Given the description of an element on the screen output the (x, y) to click on. 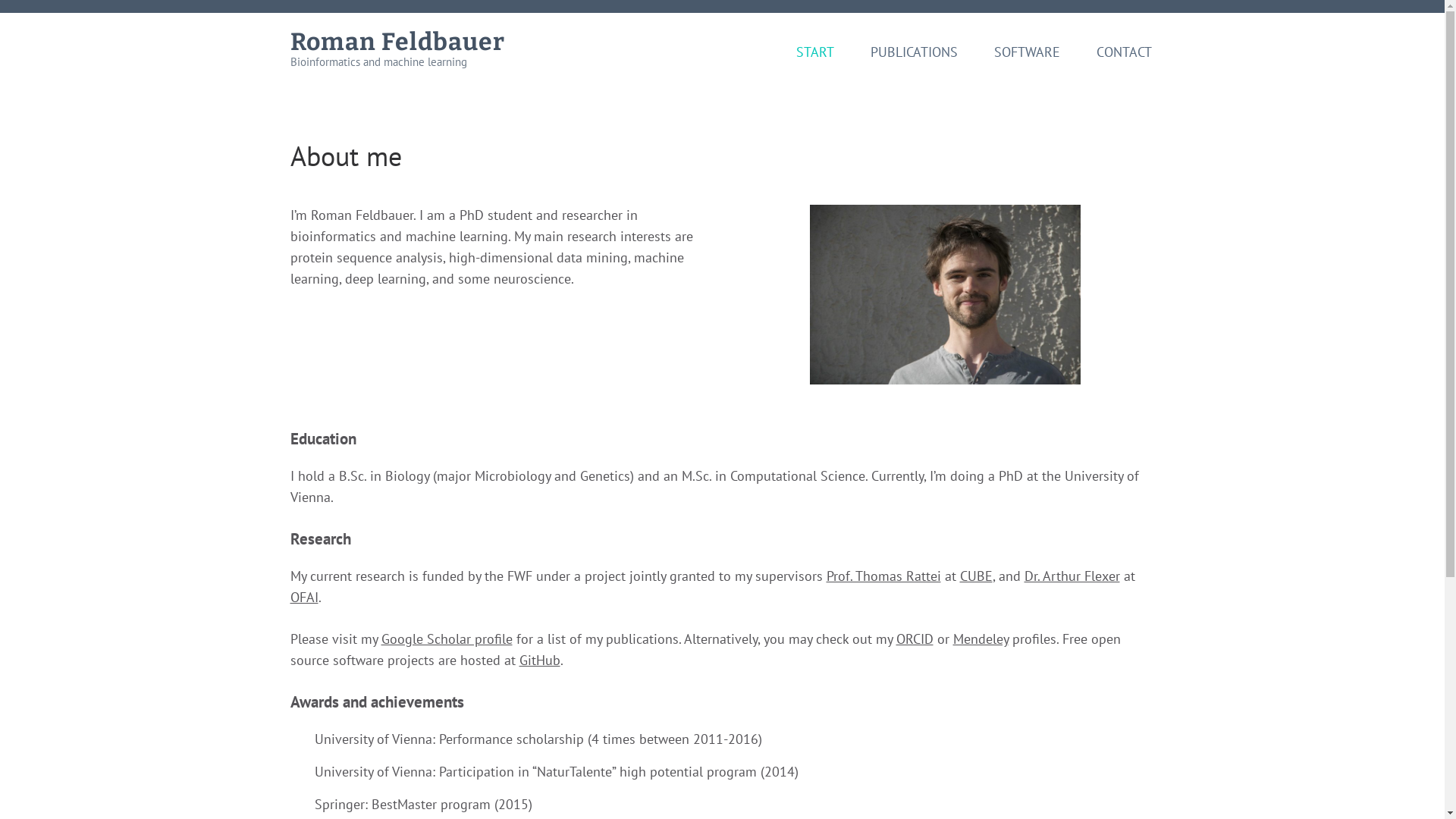
Roman Feldbauer Element type: text (396, 41)
Dr. Arthur Flexer Element type: text (1071, 575)
Mendeley Element type: text (979, 638)
ORCID Element type: text (914, 638)
START Element type: text (815, 60)
OFAI Element type: text (303, 596)
CONTACT Element type: text (1123, 60)
PUBLICATIONS Element type: text (913, 60)
GitHub Element type: text (538, 659)
Google Scholar profile Element type: text (445, 638)
CUBE Element type: text (976, 575)
SOFTWARE Element type: text (1026, 60)
Prof. Thomas Rattei Element type: text (883, 575)
